Given the description of an element on the screen output the (x, y) to click on. 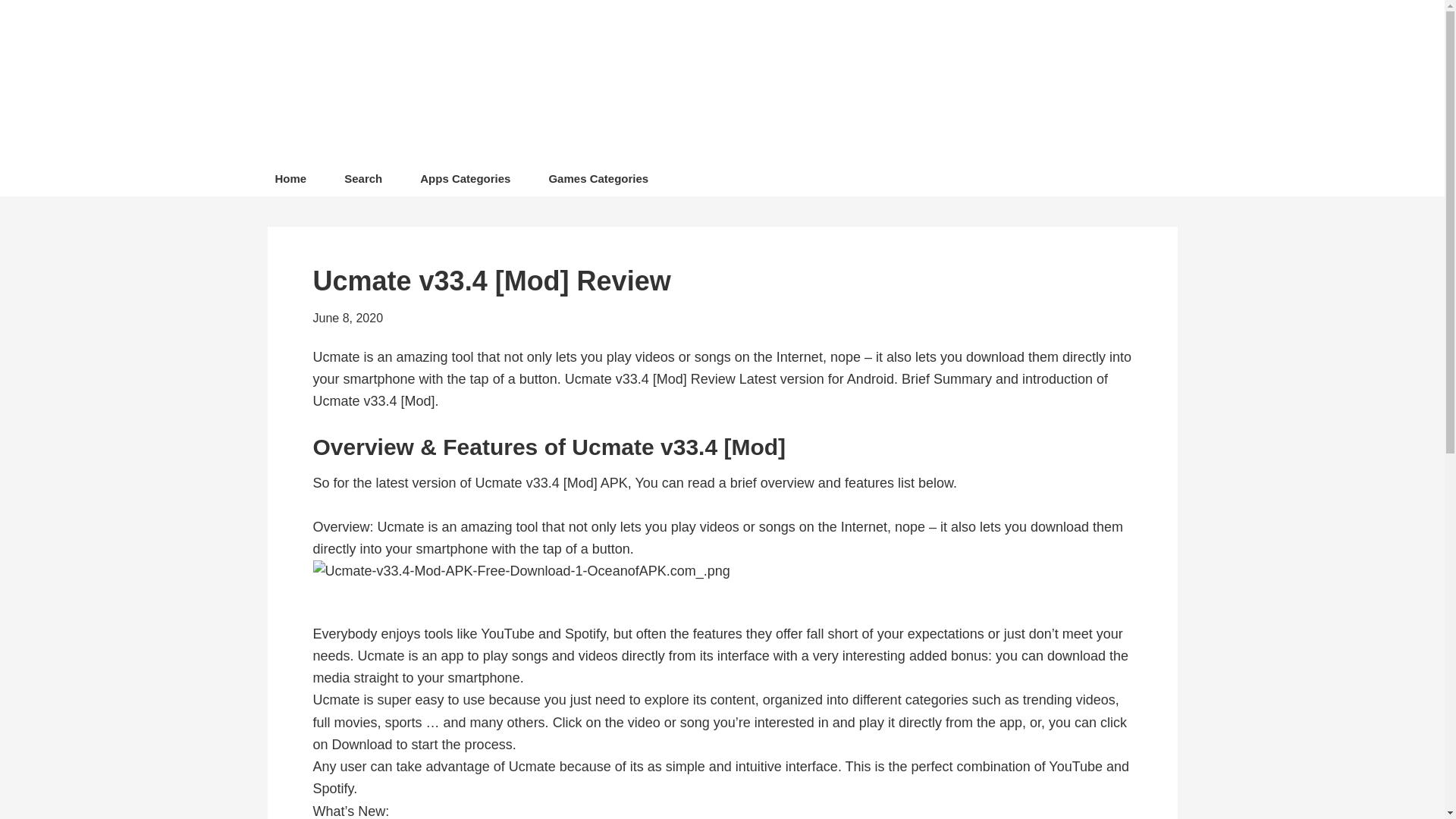
Learn Everything (698, 82)
Learn Everything (698, 82)
Games Categories (598, 181)
Search (363, 181)
Home (290, 181)
Apps Categories (465, 181)
